Given the description of an element on the screen output the (x, y) to click on. 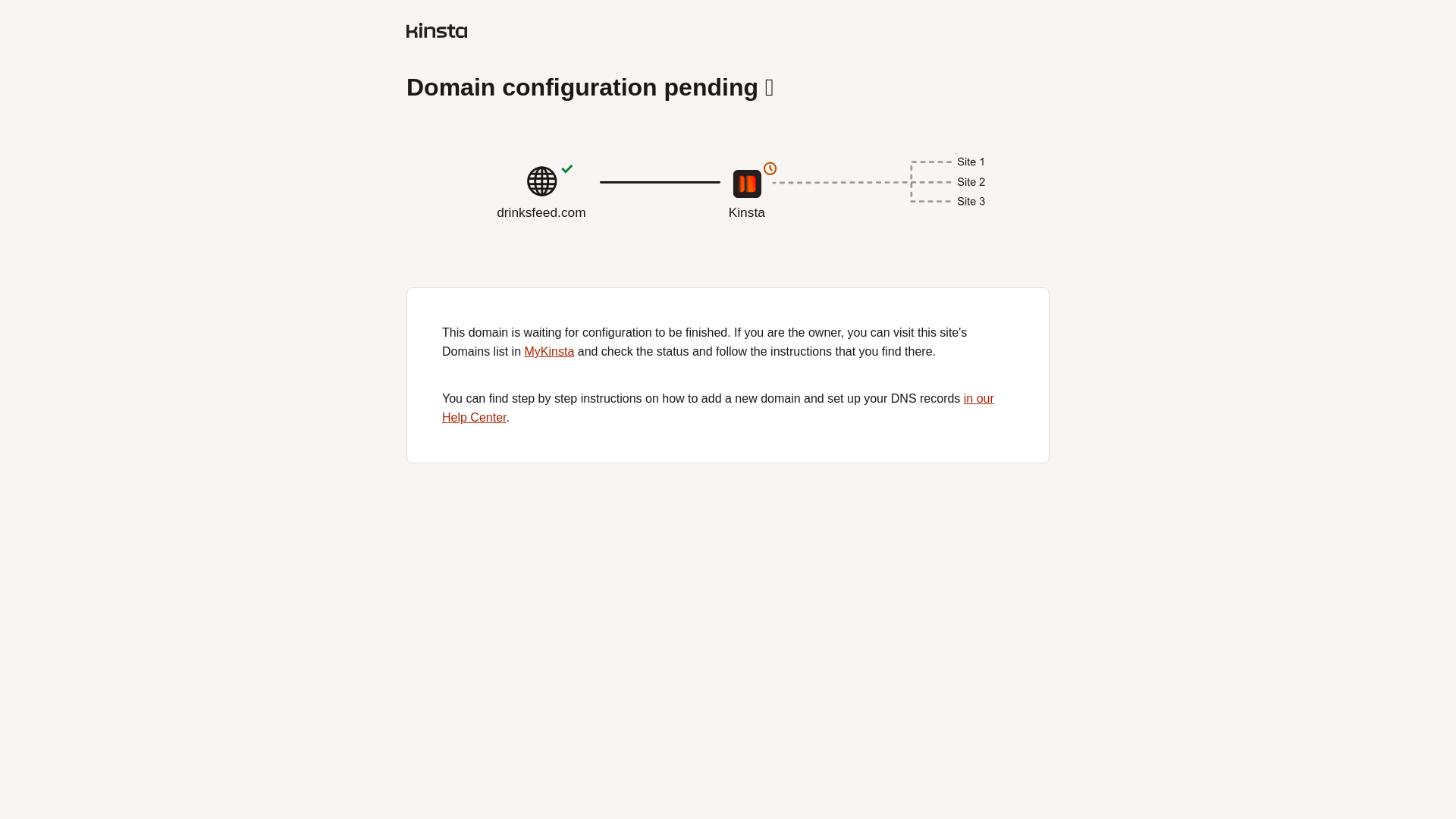
MyKinsta (727, 218)
in our Help Center (548, 350)
